Given the description of an element on the screen output the (x, y) to click on. 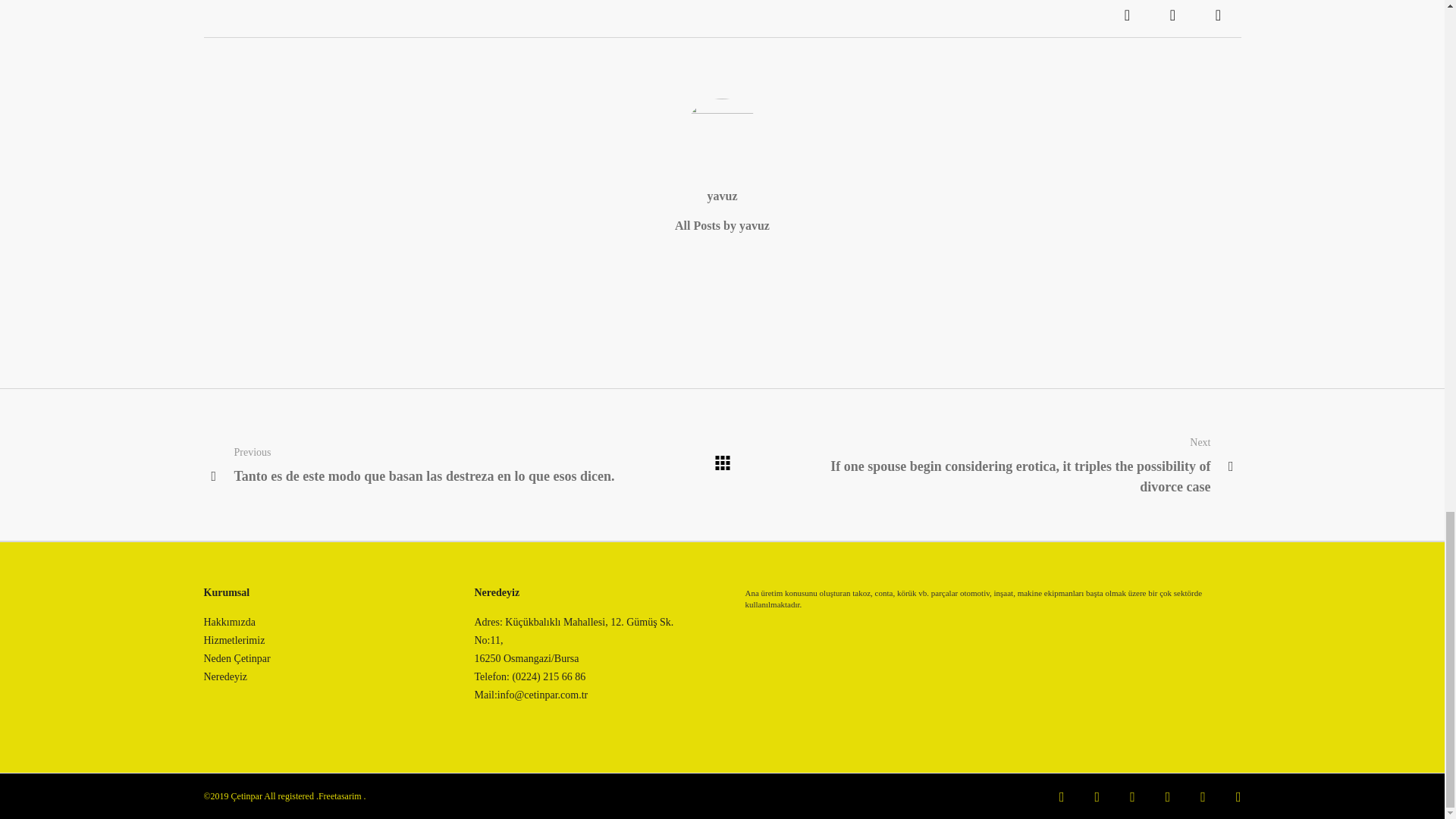
Tweet this. (1172, 18)
Pin this. (1217, 18)
Share this. (1126, 18)
All Posts by yavuz (722, 225)
yavuz (721, 195)
Freetasarim (339, 796)
Hizmetlerimiz (233, 640)
Neredeyiz (225, 676)
